Given the description of an element on the screen output the (x, y) to click on. 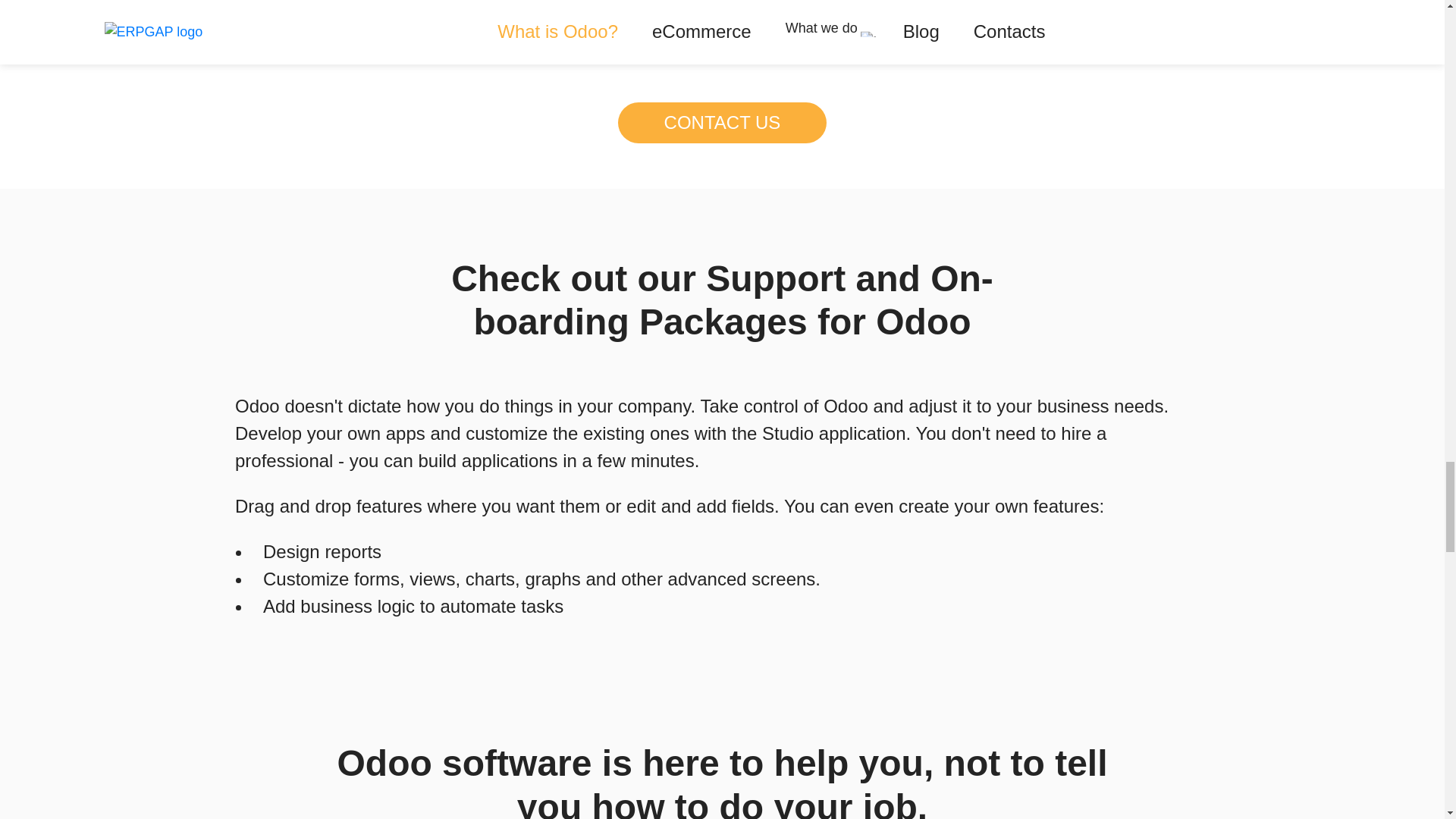
CONTACT US (722, 122)
